Given the description of an element on the screen output the (x, y) to click on. 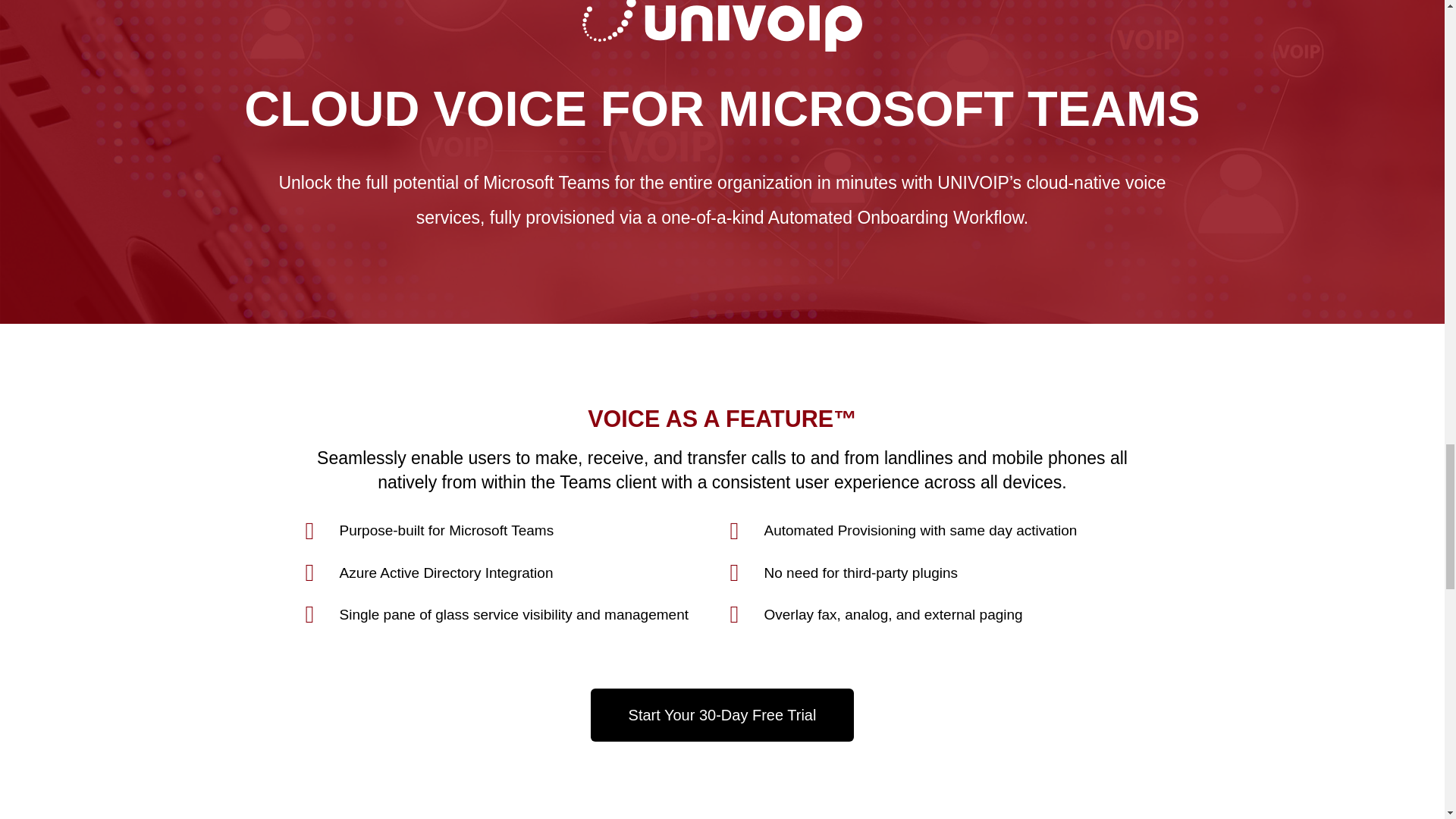
Start Your 30-Day Free Trial (722, 715)
